Given the description of an element on the screen output the (x, y) to click on. 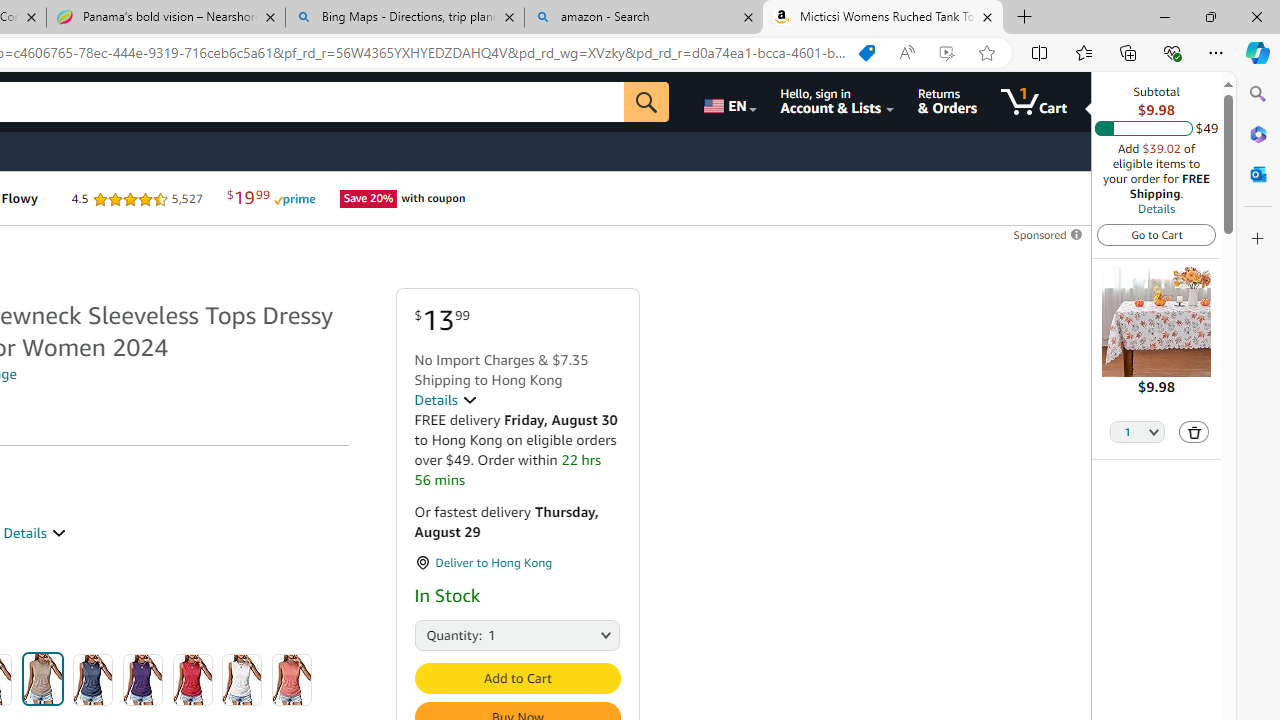
Quantity: (436, 633)
Purple (143, 679)
